Given the description of an element on the screen output the (x, y) to click on. 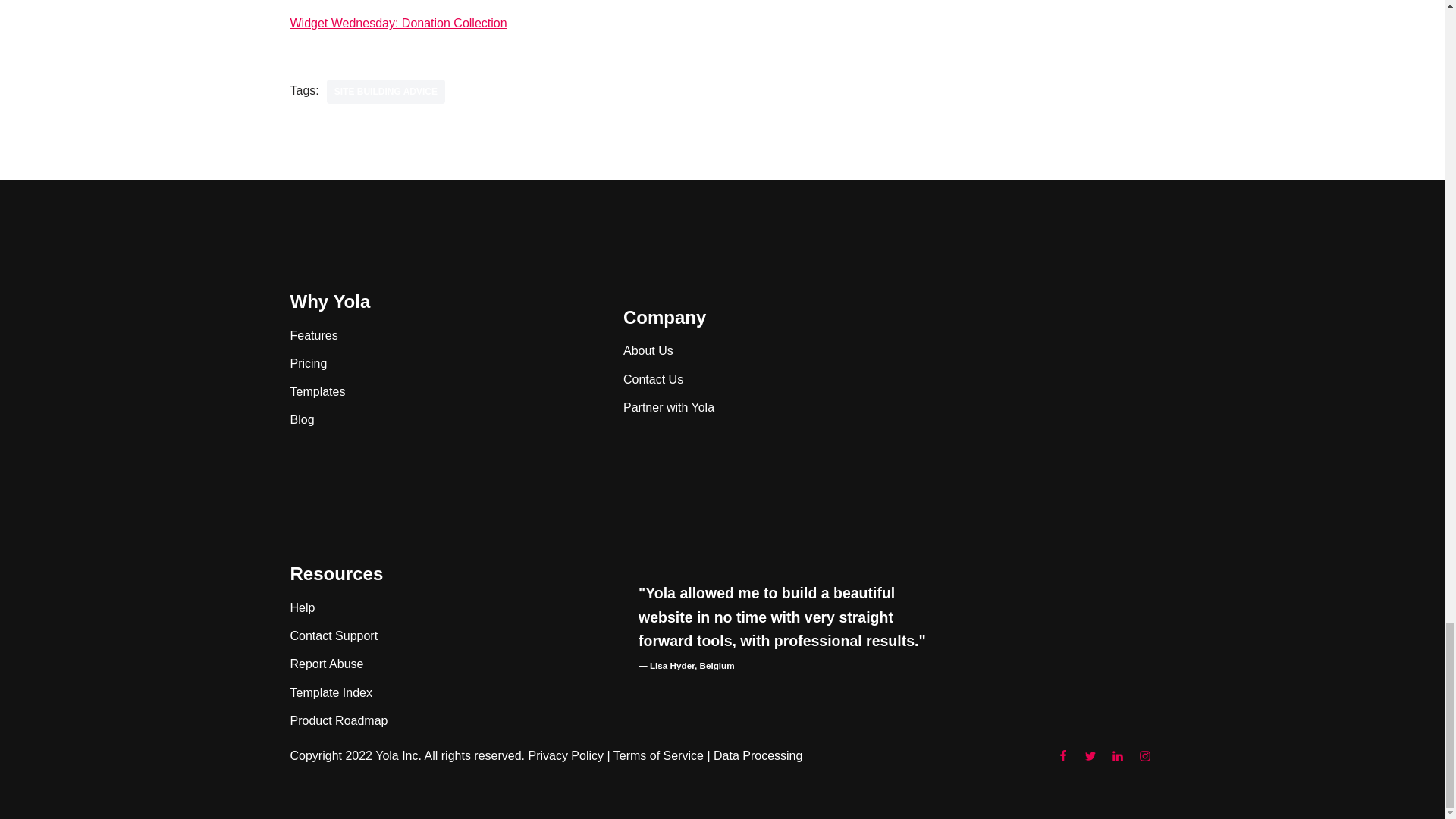
Twitter (1089, 755)
Facebook (1061, 755)
SITE BUILDING ADVICE (385, 91)
site building advice (385, 91)
Instagram (1144, 755)
LinkedIn (1116, 755)
Widget Wednesday: Donation Collection (397, 22)
